Given the description of an element on the screen output the (x, y) to click on. 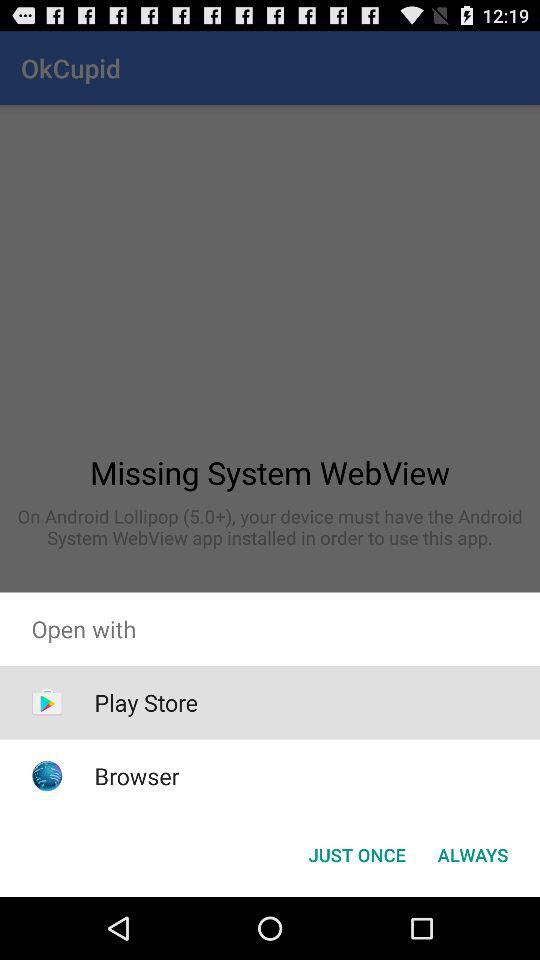
open the item next to just once icon (472, 854)
